Given the description of an element on the screen output the (x, y) to click on. 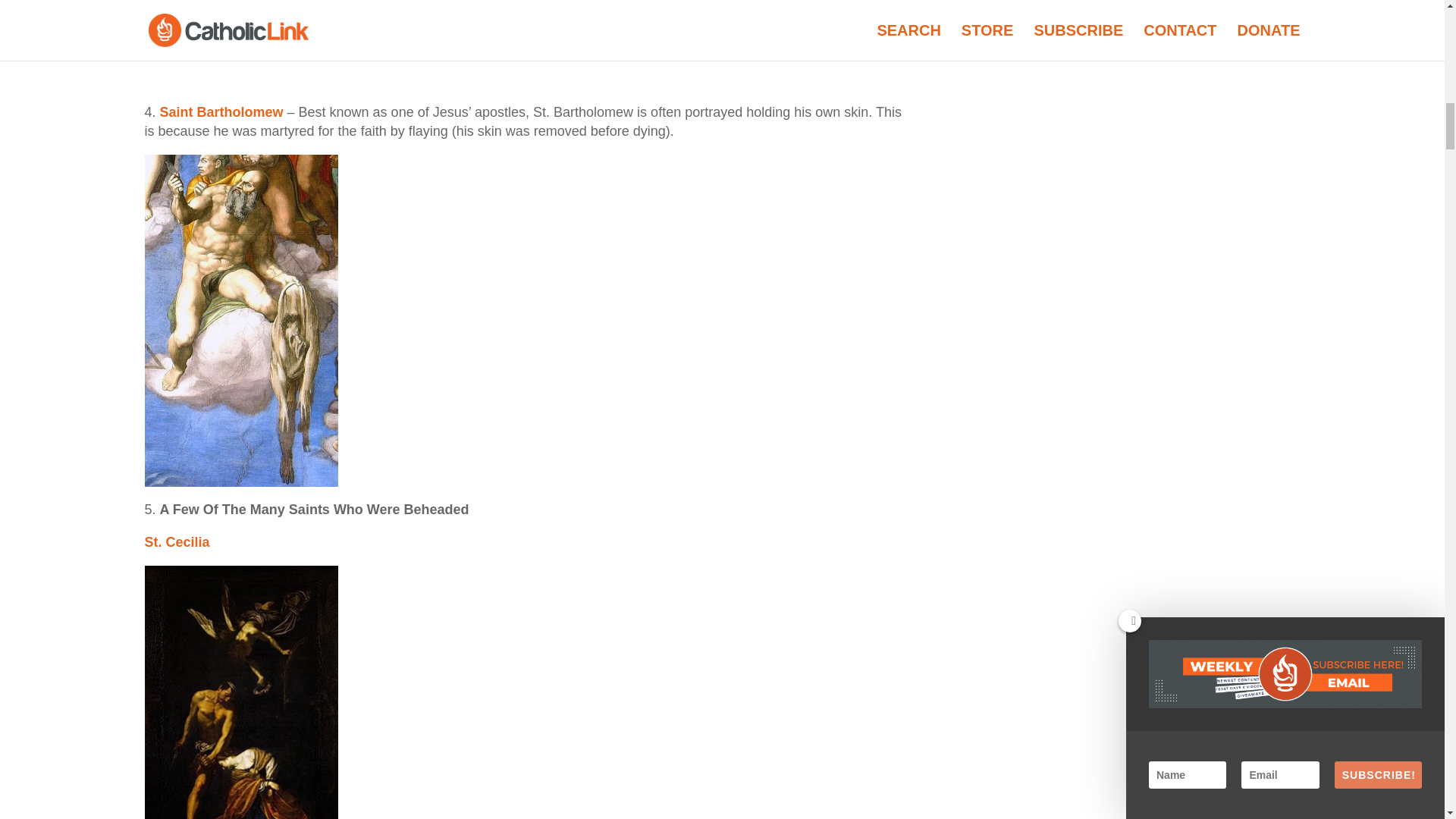
Saint Bartholomew (221, 111)
St. Cecilia (176, 541)
